Given the description of an element on the screen output the (x, y) to click on. 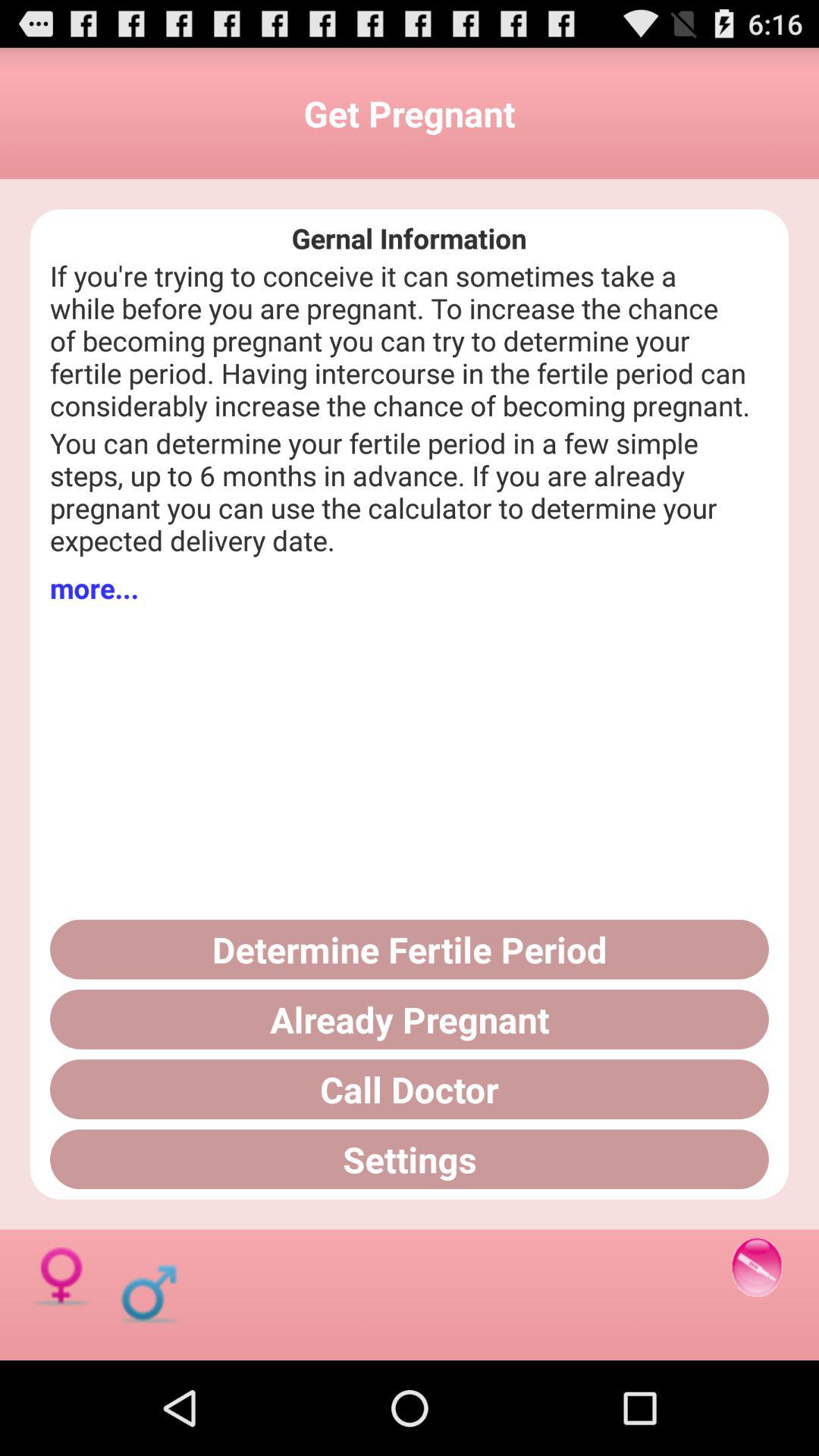
choose the item above determine fertile period (94, 587)
